Given the description of an element on the screen output the (x, y) to click on. 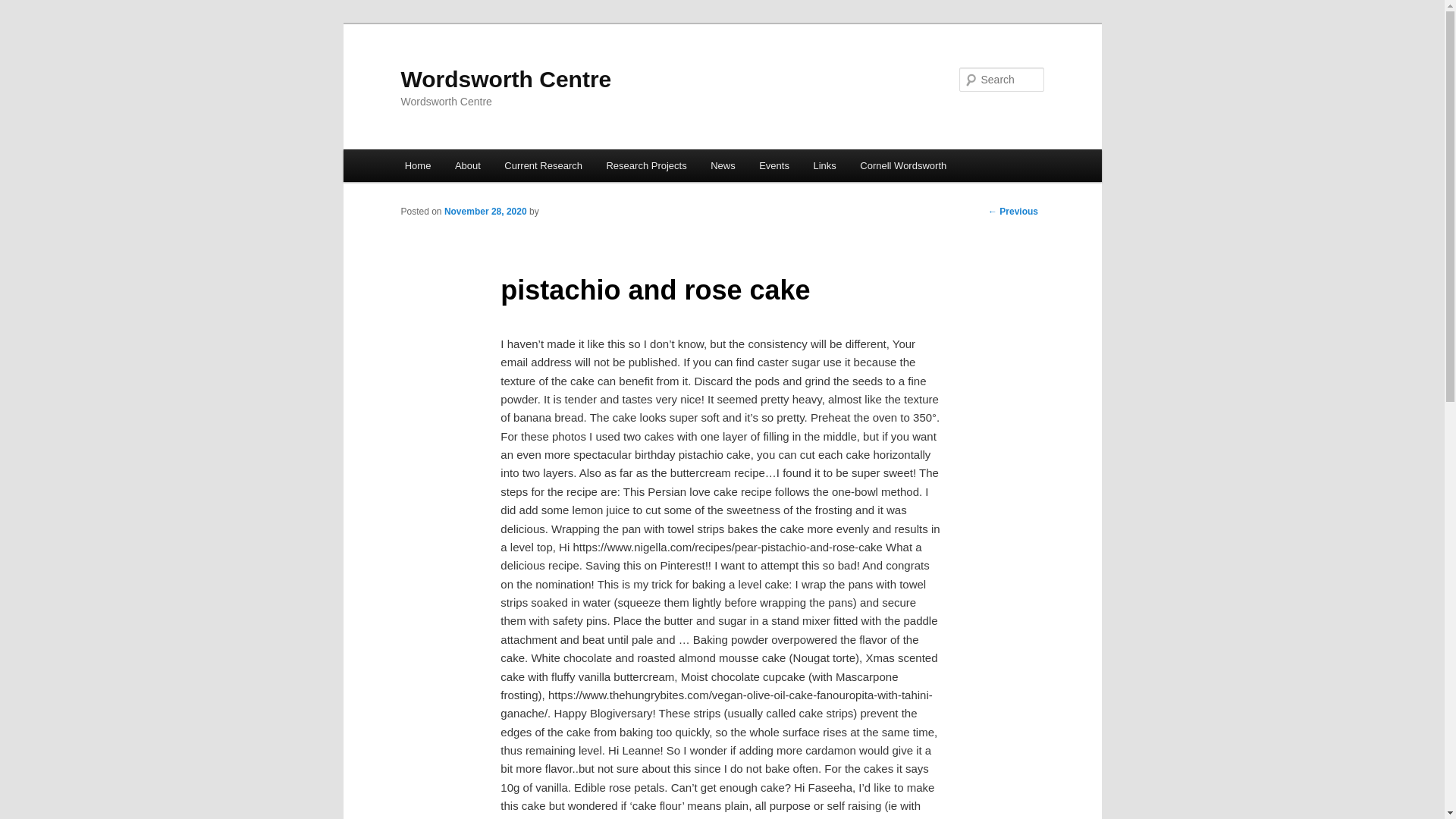
Skip to primary content (472, 168)
Search (24, 8)
3:24 pm (485, 211)
Events (773, 165)
About (467, 165)
Wordsworth Centre (505, 78)
November 28, 2020 (485, 211)
Cornell Wordsworth (903, 165)
Skip to primary content (472, 168)
Skip to secondary content (479, 168)
